Given the description of an element on the screen output the (x, y) to click on. 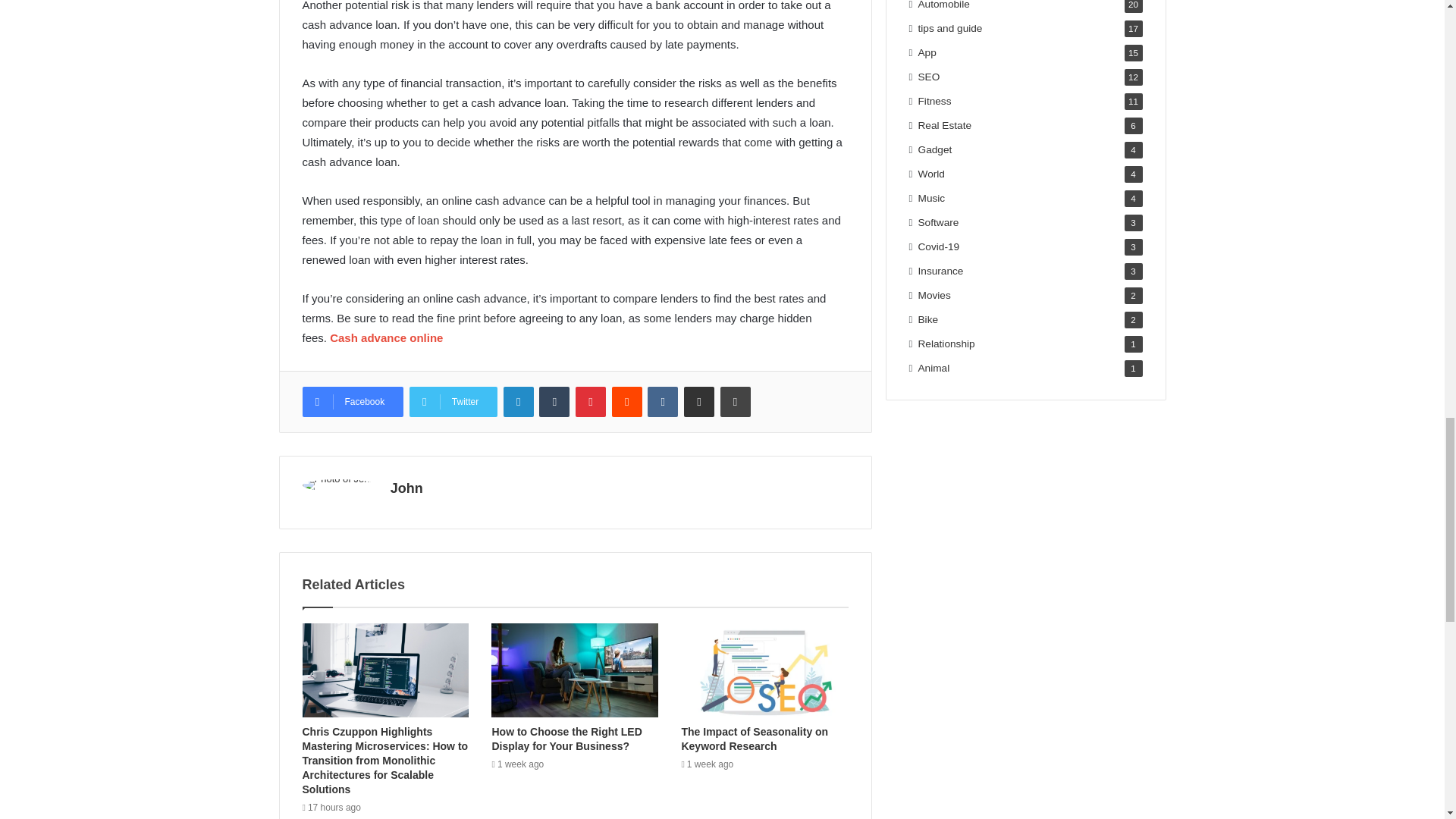
Print (735, 401)
LinkedIn (518, 401)
Share via Email (699, 401)
Facebook (352, 401)
Share via Email (699, 401)
Facebook (352, 401)
John (406, 488)
Tumblr (553, 401)
Reddit (626, 401)
Reddit (626, 401)
Pinterest (590, 401)
Twitter (453, 401)
VKontakte (662, 401)
VKontakte (662, 401)
